Given the description of an element on the screen output the (x, y) to click on. 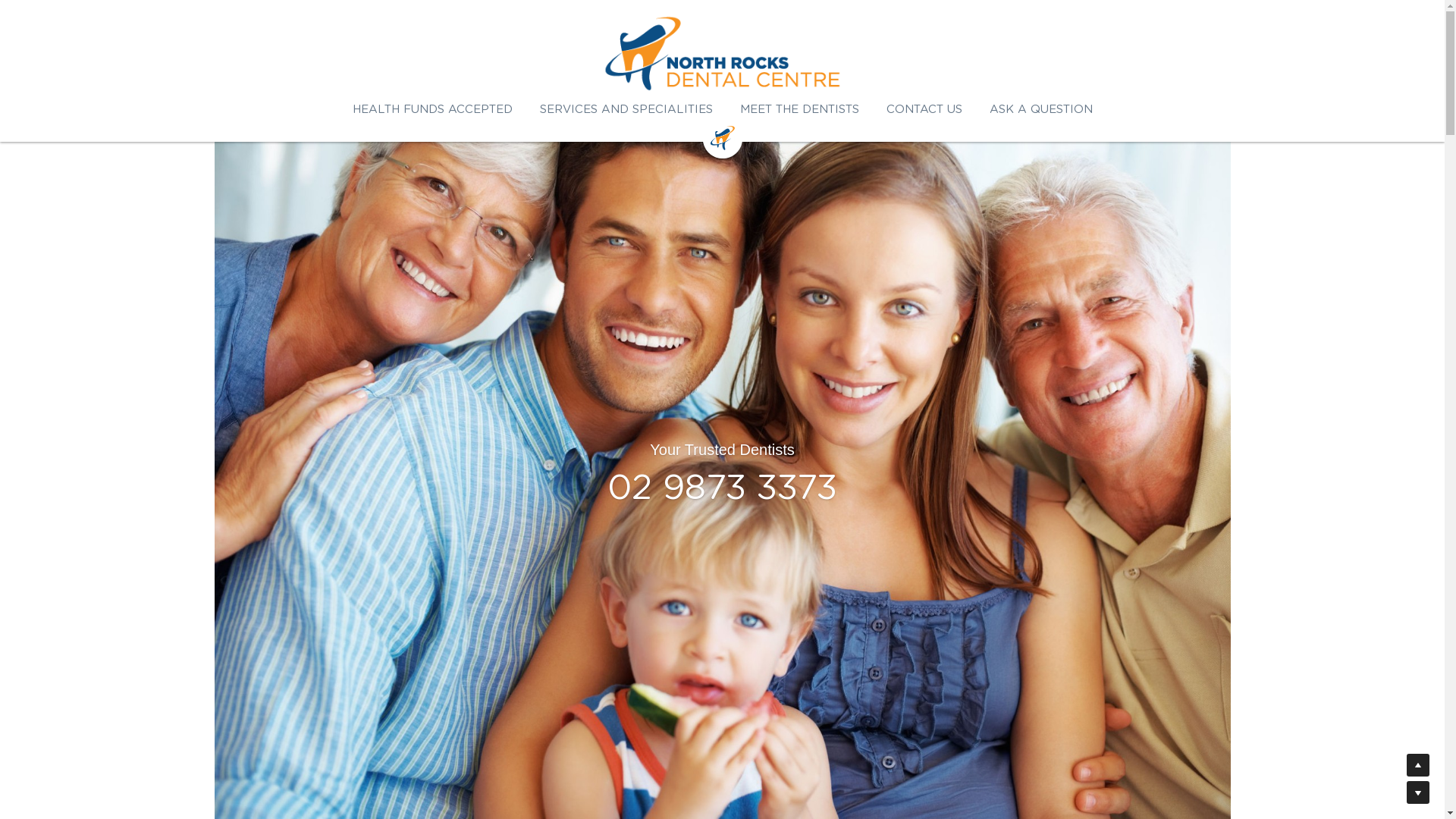
CONTACT US Element type: text (923, 109)
MEET THE DENTISTS Element type: text (799, 109)
HEALTH FUNDS ACCEPTED Element type: text (431, 109)
SERVICES AND SPECIALITIES Element type: text (625, 109)
ASK A QUESTION Element type: text (1040, 109)
